Given the description of an element on the screen output the (x, y) to click on. 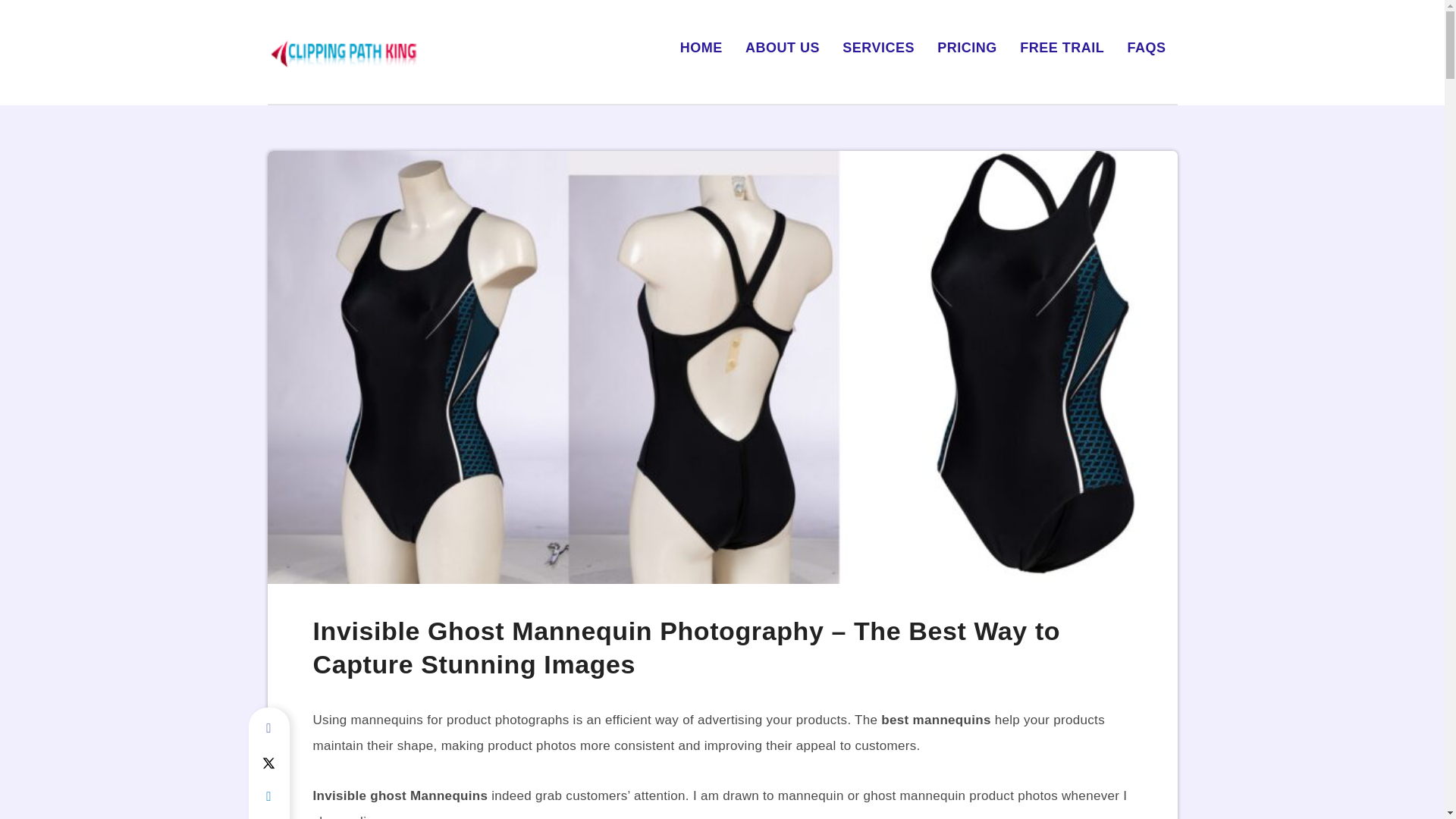
FAQS (1146, 47)
FREE TRAIL (1061, 47)
ABOUT US (782, 47)
HOME (700, 47)
PRICING (967, 47)
SERVICES (878, 47)
